Given the description of an element on the screen output the (x, y) to click on. 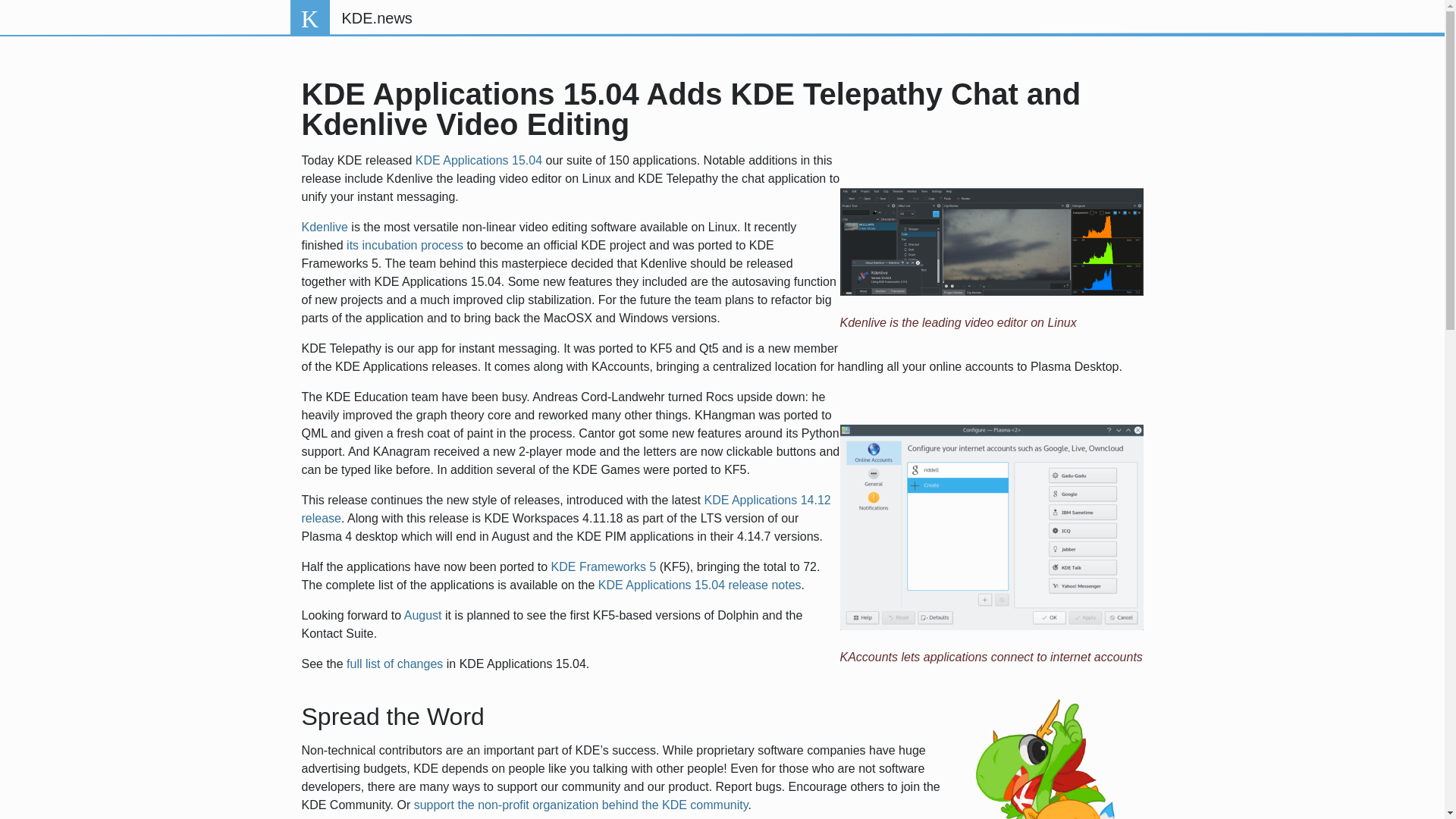
its incubation process (404, 245)
August (423, 615)
support the non-profit organization behind the KDE community (580, 804)
Home (309, 18)
Kdenlive (324, 226)
KDE Applications 15.04 (477, 160)
full list of changes (394, 663)
KDE Applications 15.04 release notes (700, 584)
KDE Applications 14.12 release (566, 508)
Home (376, 18)
